Given the description of an element on the screen output the (x, y) to click on. 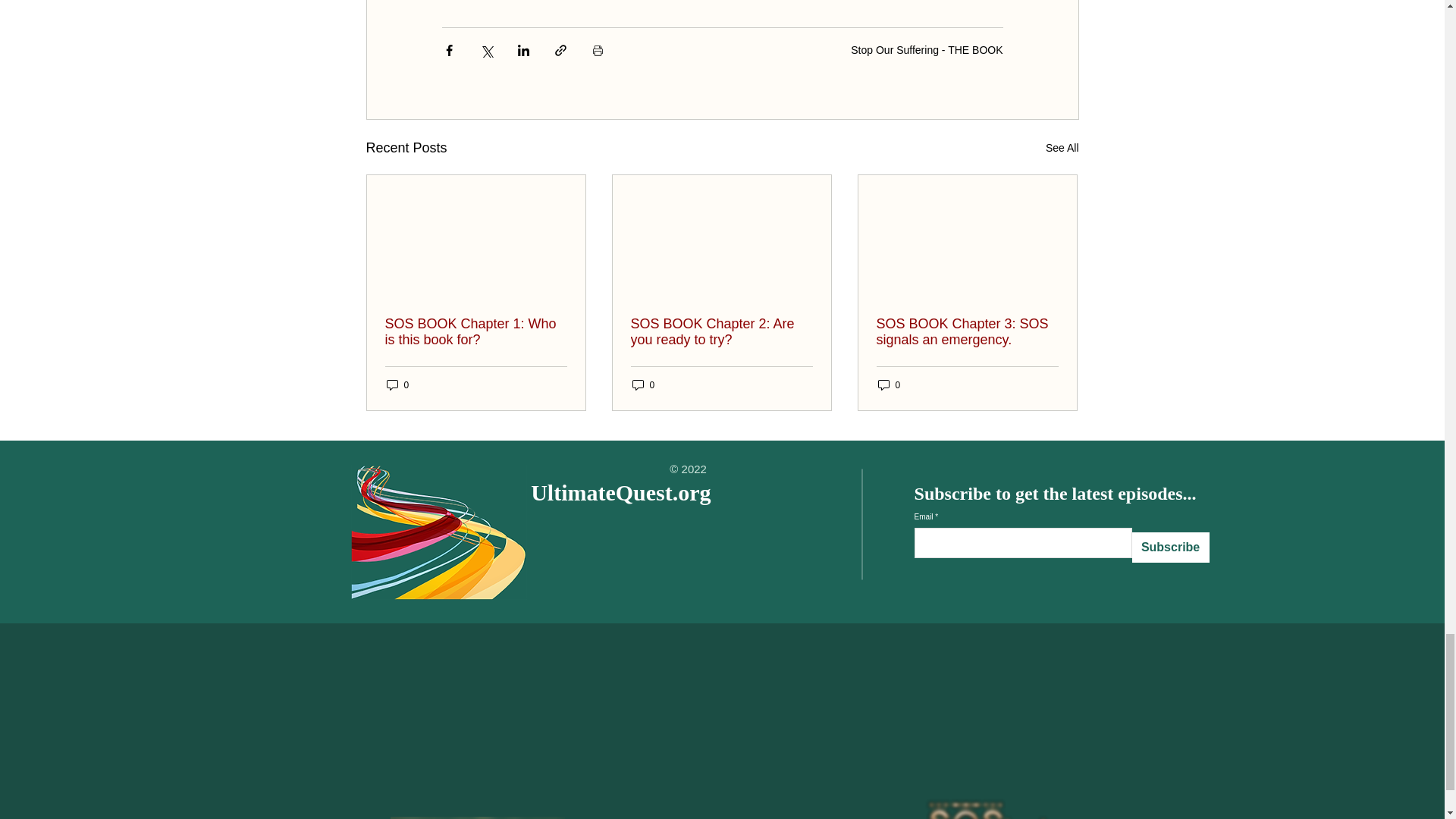
0 (889, 384)
Stop Our Suffering - THE BOOK (926, 50)
SOS BOOK Chapter 1: Who is this book for? (476, 332)
0 (643, 384)
0 (397, 384)
See All (1061, 147)
Subscribe (1170, 547)
SOS BOOK Chapter 3: SOS signals an emergency. (967, 332)
SOS BOOK Chapter 2: Are you ready to try? (721, 332)
ChangeYourMind.org (750, 797)
UltimateQuest.org (620, 492)
